Given the description of an element on the screen output the (x, y) to click on. 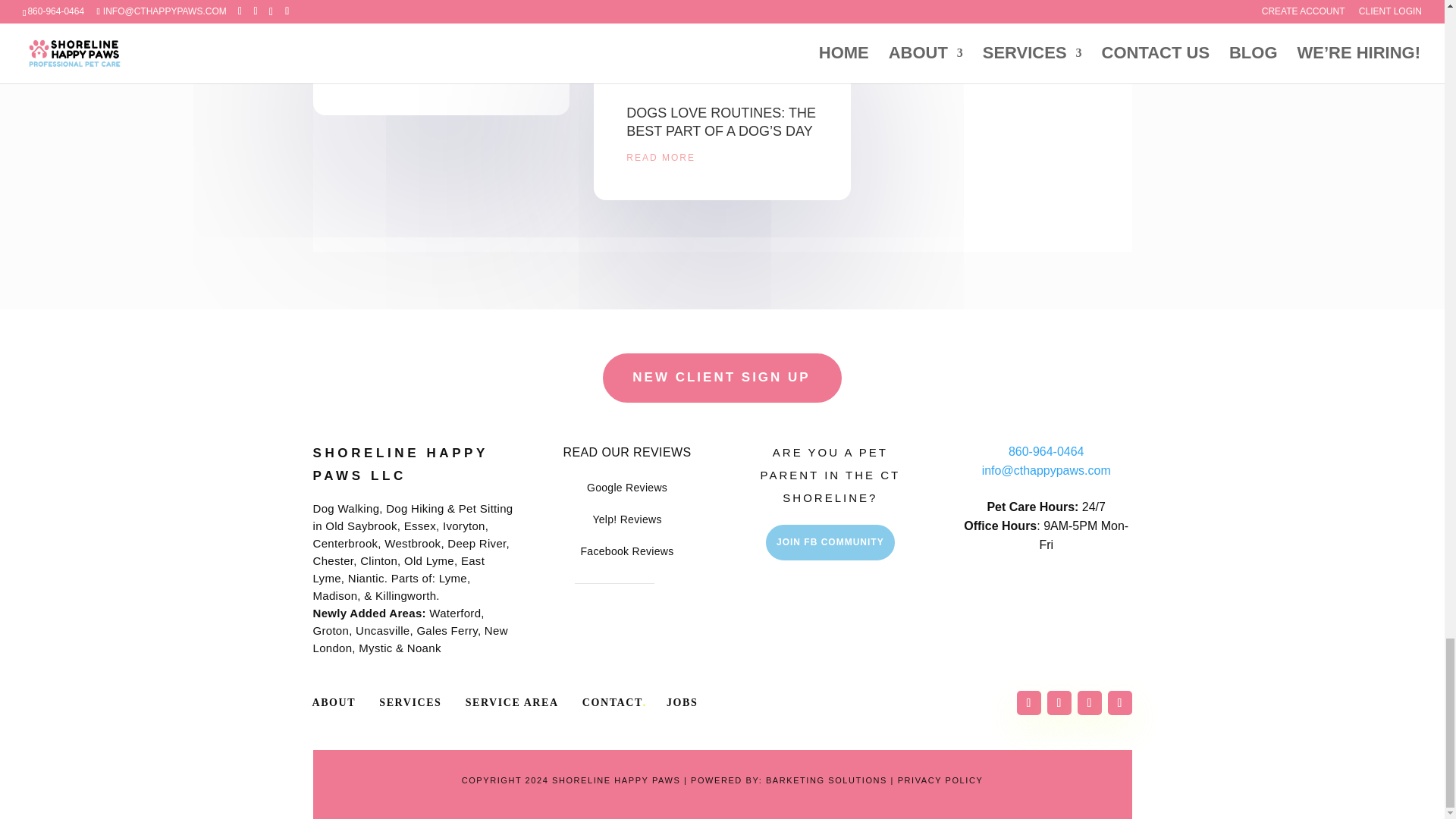
Follow on Instagram (1058, 702)
Follow on TikTok (1088, 702)
Follow on Facebook (1028, 702)
Follow on Youtube (1118, 702)
